Given the description of an element on the screen output the (x, y) to click on. 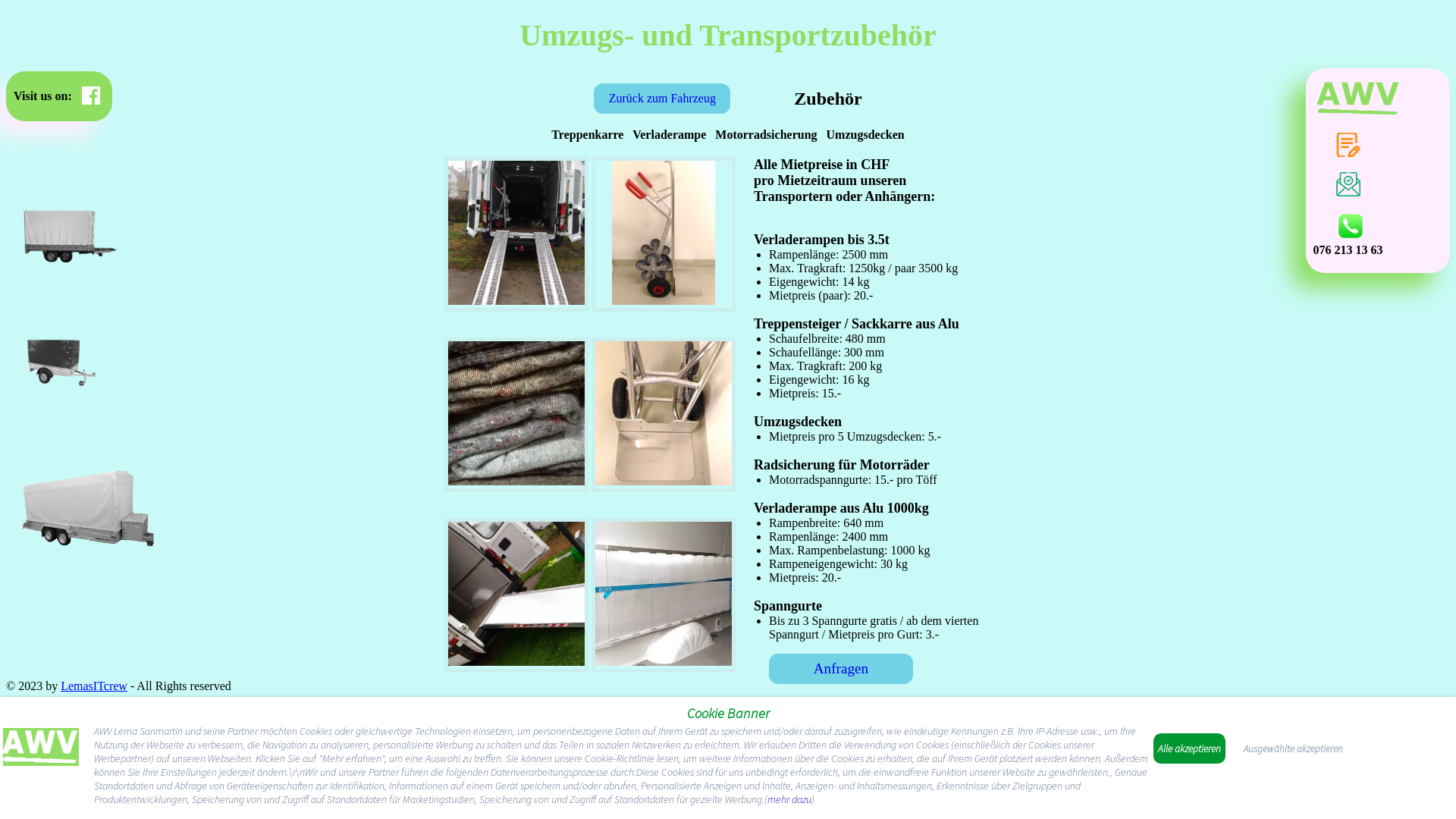
AWV Logo Element type: hover (1358, 98)
Verladerampen Element type: hover (516, 300)
mehr dazu Element type: text (789, 799)
LemasITcrew Element type: text (93, 685)
Motorradtransport Element type: hover (663, 480)
Rampe aus Alu bis 1000kg Element type: hover (516, 661)
Umzugsdecken Element type: hover (516, 480)
Telefonisch Element type: hover (1350, 225)
Laderampen Element type: hover (516, 232)
E-Mail senden Element type: hover (1348, 184)
Facebook Element type: text (90, 95)
Verladerampe aus Aluminium Element type: hover (663, 661)
Alle akzeptieren Element type: text (1189, 748)
Anfragen Element type: text (840, 668)
Formularanfrage Element type: hover (1348, 144)
Sackkarre zu vermieten Element type: hover (663, 300)
Zur Homepage von AWV Fahrzeugvermietung Element type: hover (40, 749)
Cookie Banner Element type: text (728, 712)
